Given the description of an element on the screen output the (x, y) to click on. 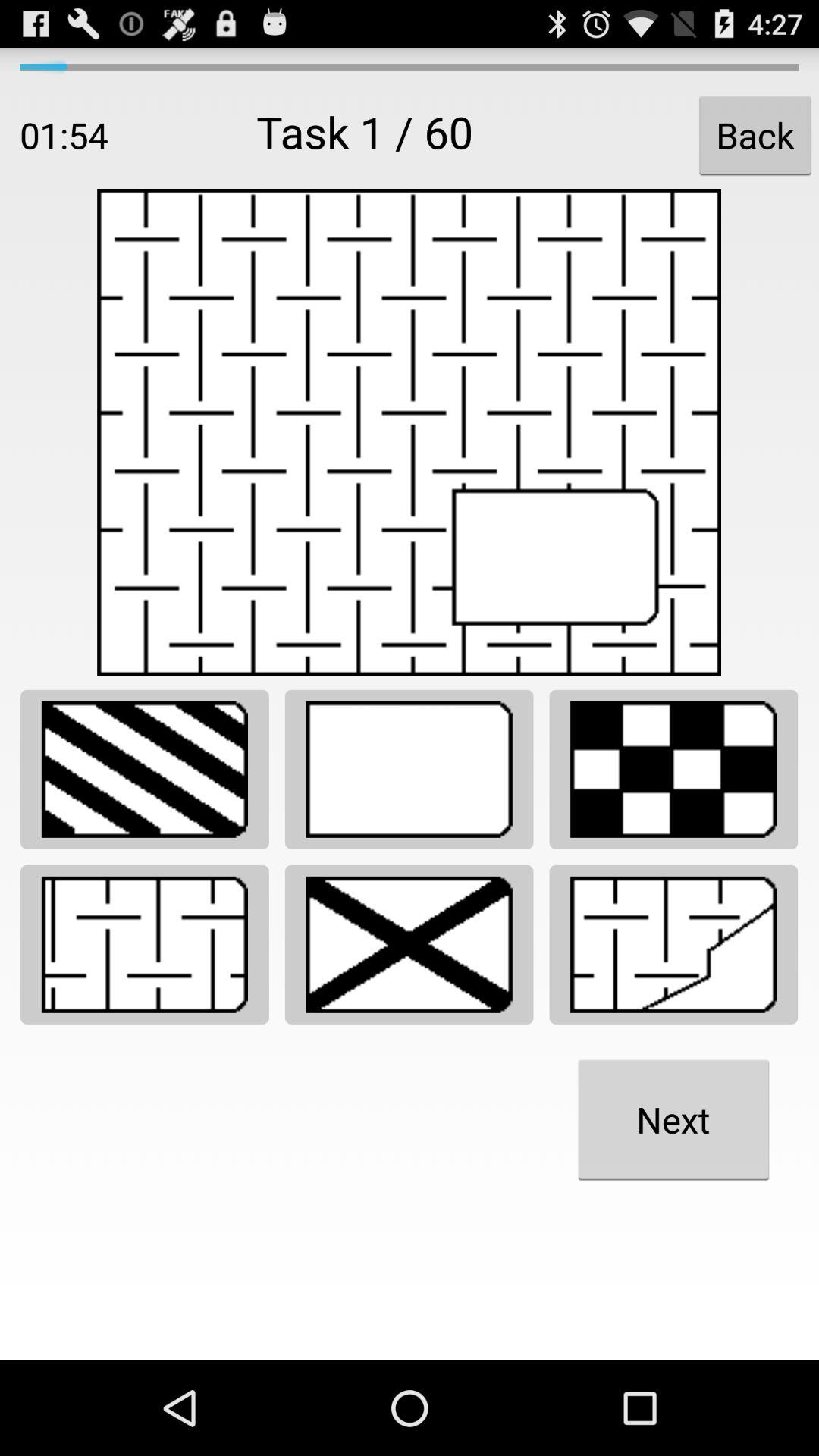
launch the next (673, 1119)
